Given the description of an element on the screen output the (x, y) to click on. 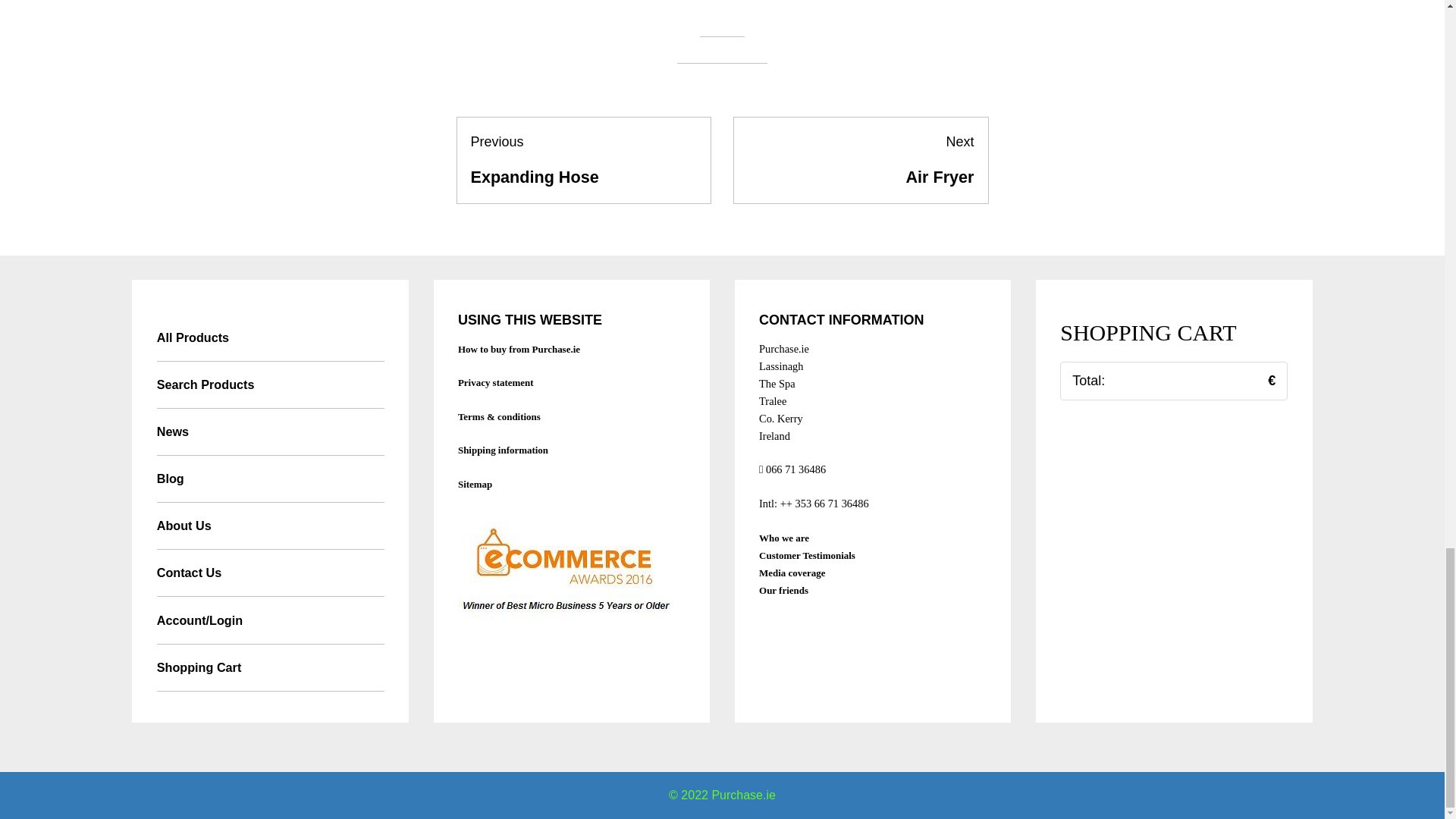
Shopping Cart (270, 667)
News (270, 431)
Blog (270, 478)
About Us (270, 525)
Sitemap (475, 483)
Media coverage (791, 572)
Contact Us (270, 573)
Who we are (783, 537)
How to buy from Purchase.ie (518, 348)
Our friends (860, 160)
Privacy statement (783, 590)
Customer Testimonials (496, 382)
All Products (584, 160)
